Given the description of an element on the screen output the (x, y) to click on. 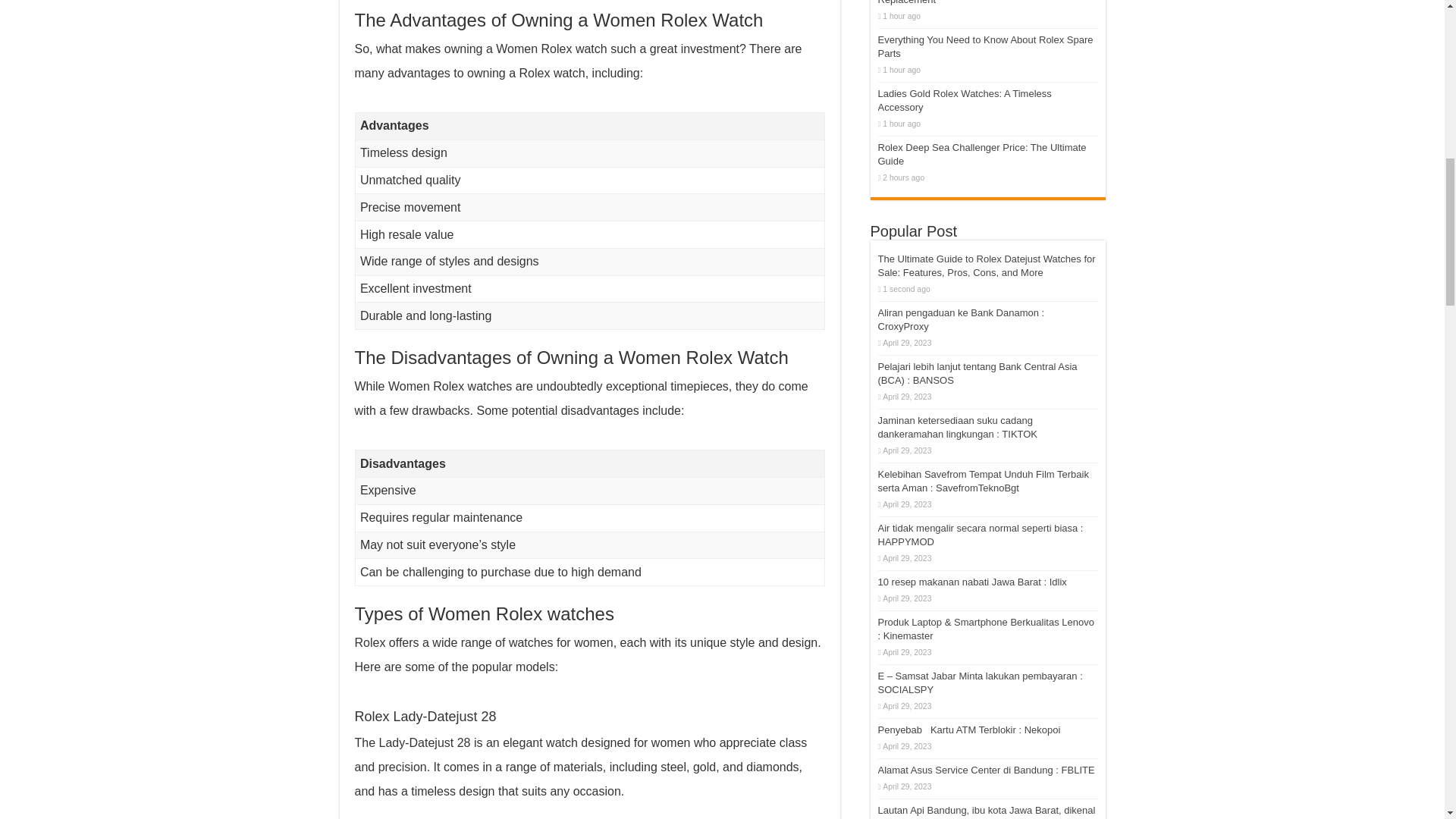
Everything You Need to Know About Rolex Spare Parts (985, 46)
Aliran pengaduan ke Bank Danamon : CroxyProxy (961, 319)
Rolex Deep Sea Challenger Price: The Ultimate Guide (981, 154)
The Ultimate Guide to Rolex Leather Strap Replacement (970, 2)
10 resep makanan nabati Jawa Barat : Idlix (972, 582)
Penyebab   Kartu ATM Terblokir : Nekopoi (969, 729)
